Given the description of an element on the screen output the (x, y) to click on. 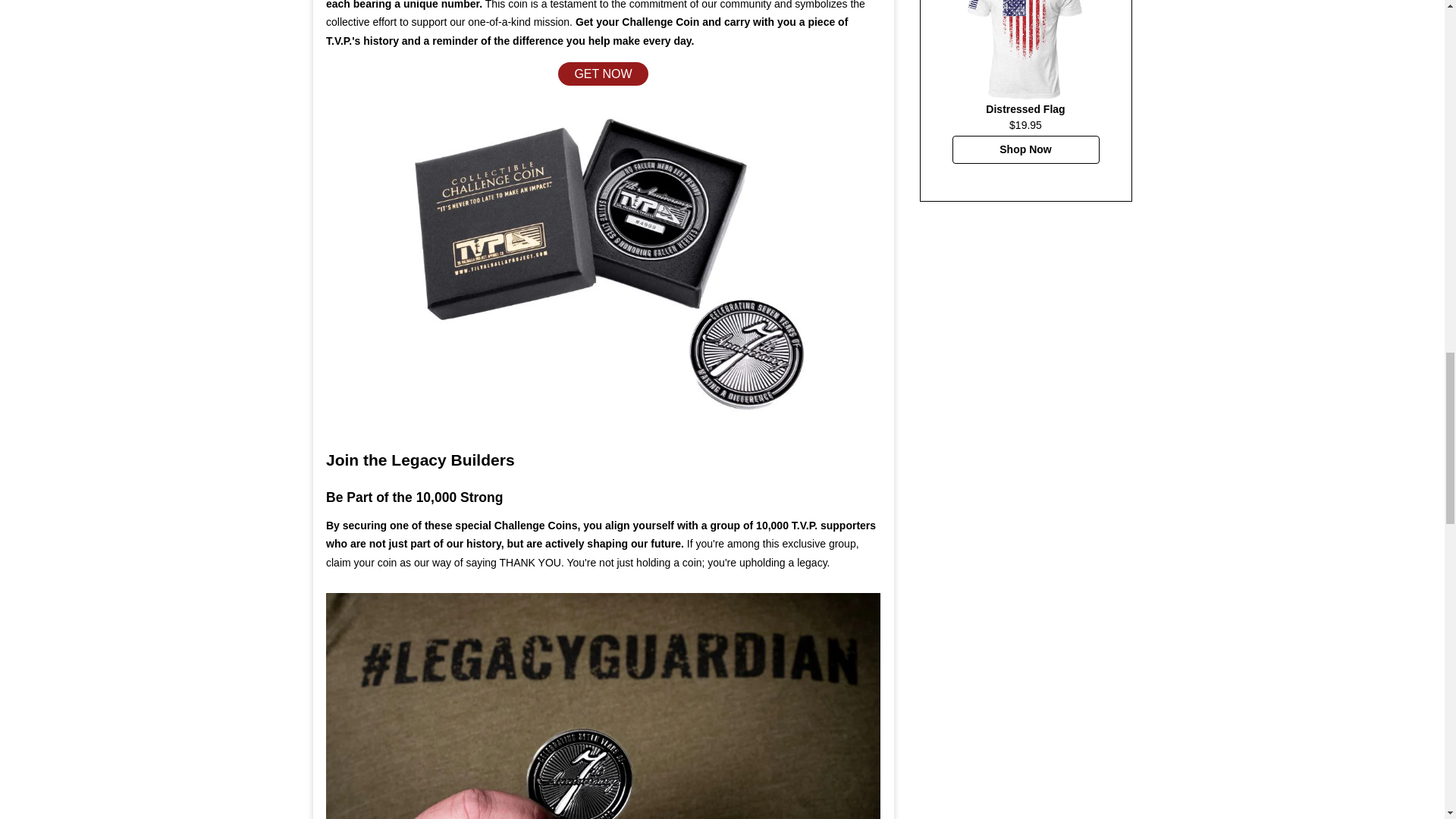
7th Anniversary Challenge Coin (603, 705)
